Given the description of an element on the screen output the (x, y) to click on. 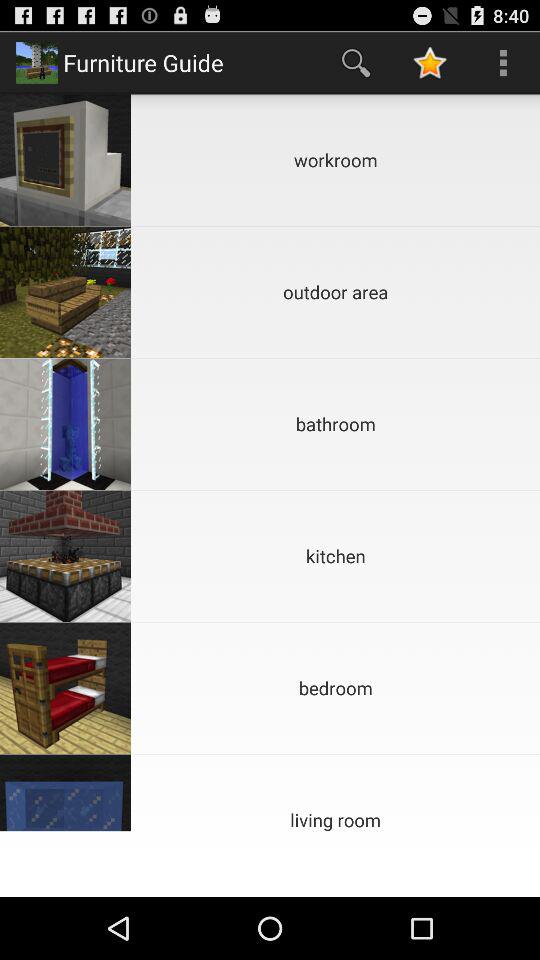
tap kitchen icon (335, 555)
